Given the description of an element on the screen output the (x, y) to click on. 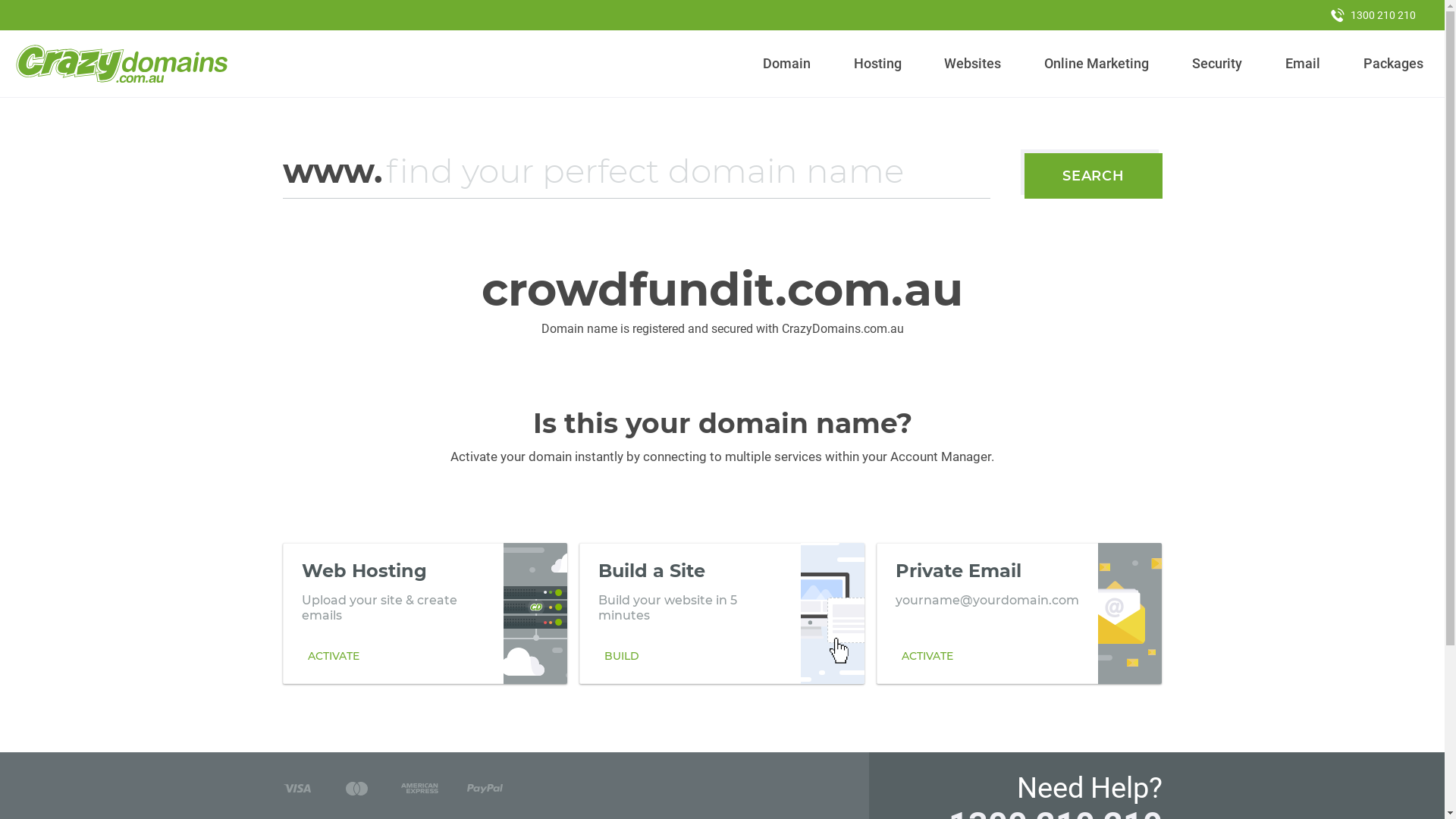
Private Email
yourname@yourdomain.com
ACTIVATE Element type: text (1018, 613)
Packages Element type: text (1392, 63)
Email Element type: text (1302, 63)
Online Marketing Element type: text (1096, 63)
Web Hosting
Upload your site & create emails
ACTIVATE Element type: text (424, 613)
Websites Element type: text (972, 63)
Domain Element type: text (786, 63)
Security Element type: text (1217, 63)
Build a Site
Build your website in 5 minutes
BUILD Element type: text (721, 613)
Hosting Element type: text (877, 63)
SEARCH Element type: text (1092, 175)
1300 210 210 Element type: text (1373, 15)
